Given the description of an element on the screen output the (x, y) to click on. 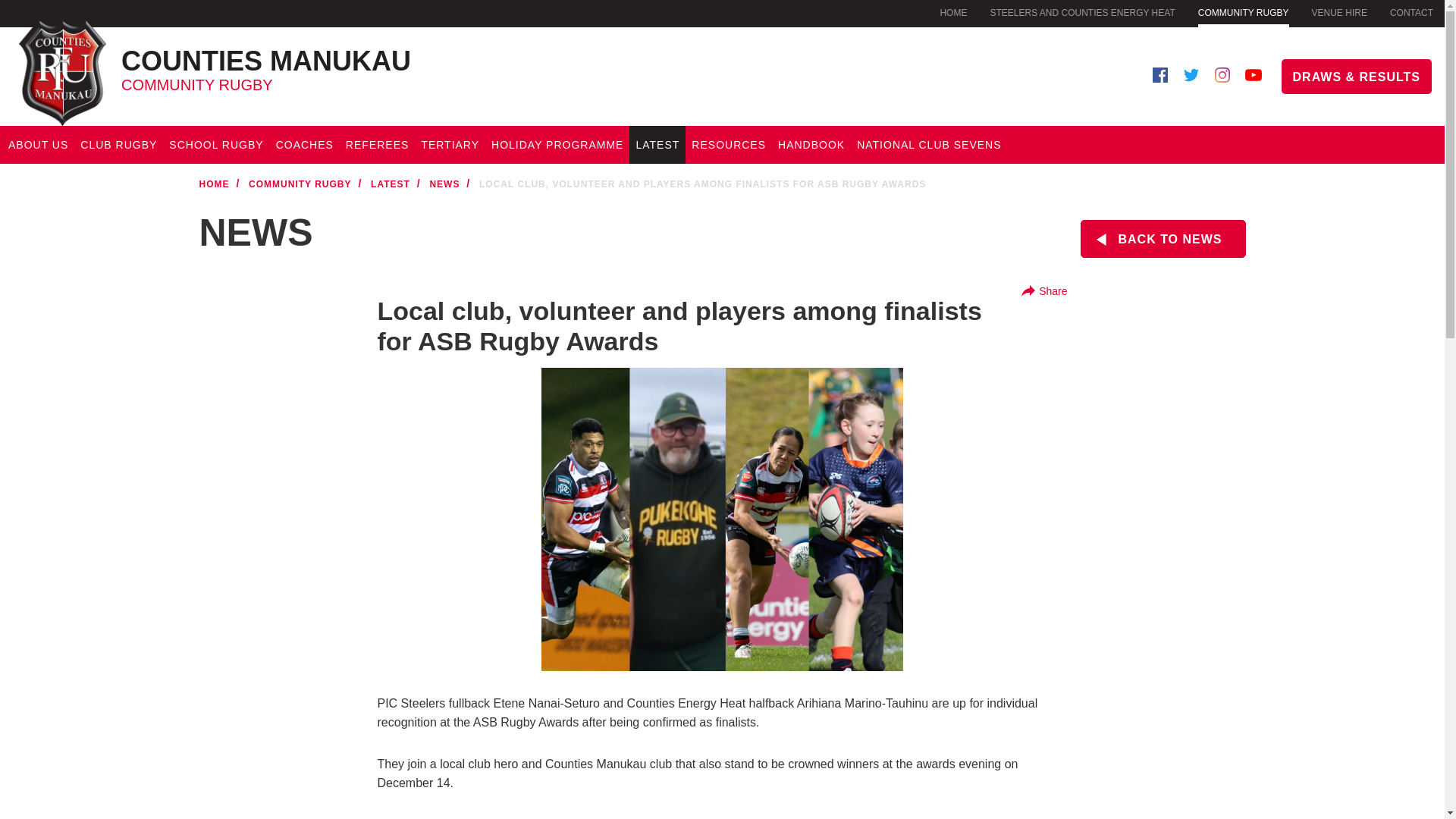
ABOUT US (364, 63)
VENUE HIRE (38, 144)
COMMUNITY RUGBY (1339, 12)
HOME (1243, 13)
STEELERS AND COUNTIES ENERGY HEAT (952, 12)
CONTACT (1082, 12)
CLUB RUGBY (1411, 12)
SCHOOL RUGBY (118, 144)
